Given the description of an element on the screen output the (x, y) to click on. 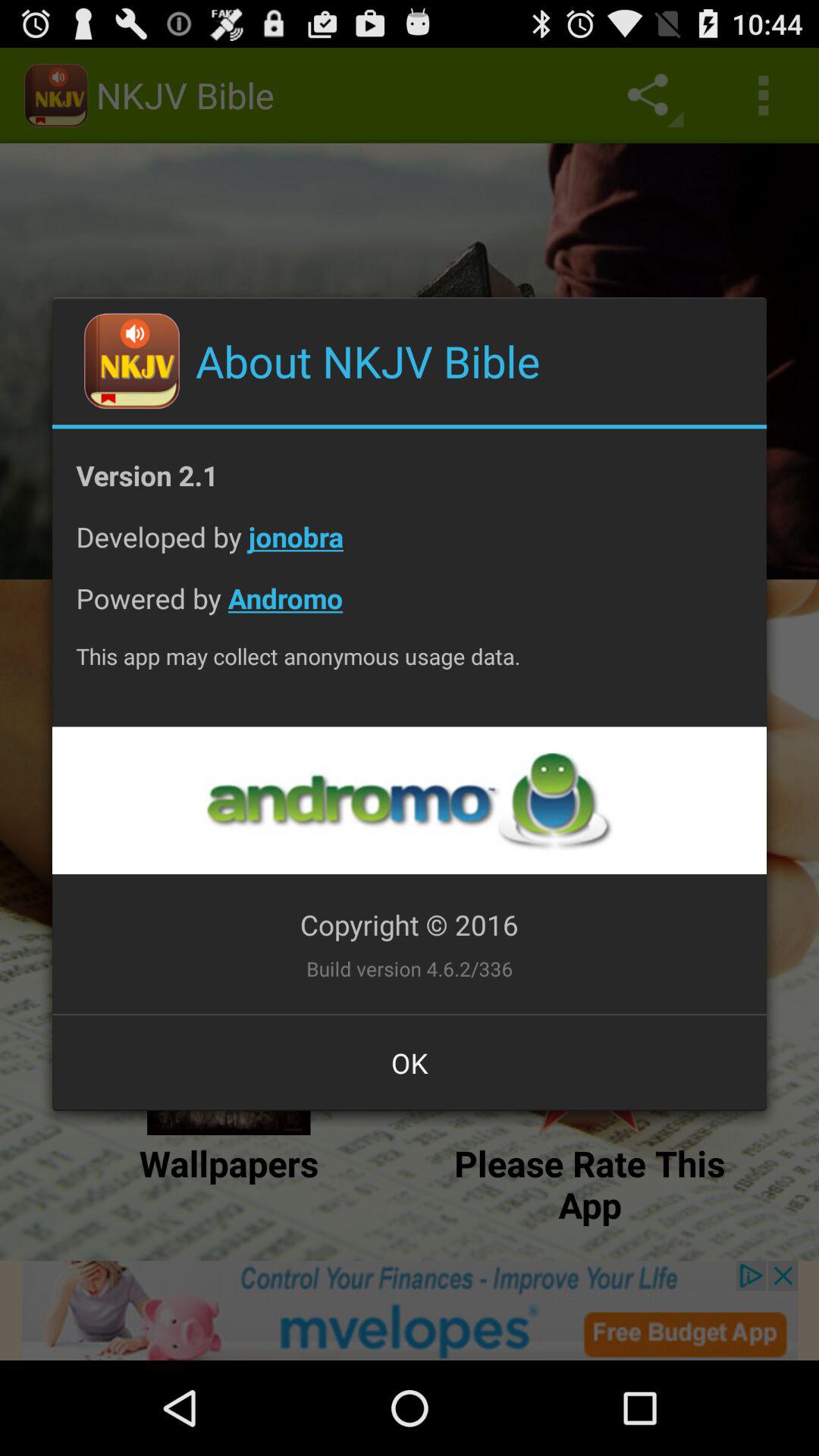
swipe to ok button (409, 1062)
